Given the description of an element on the screen output the (x, y) to click on. 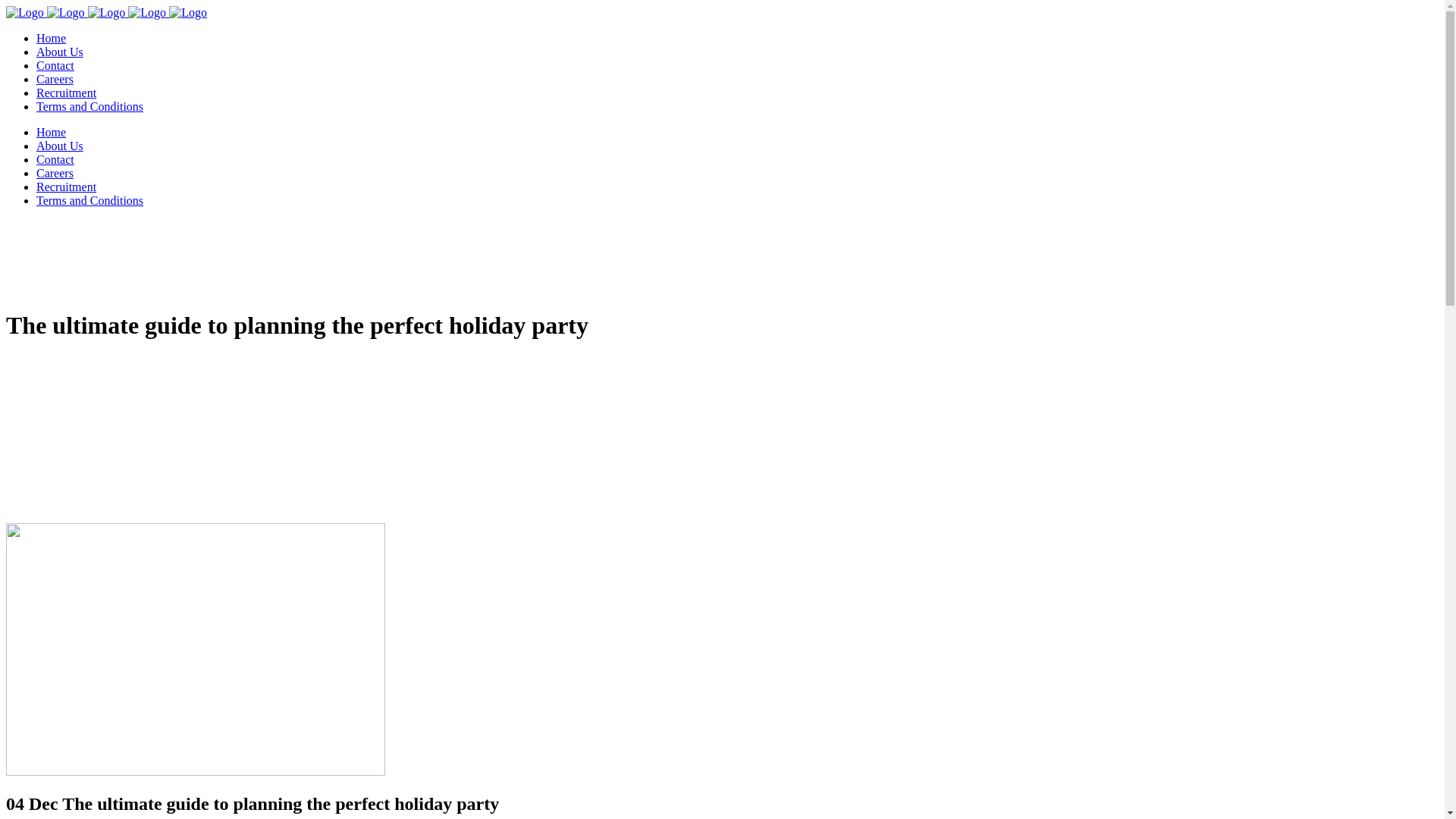
Contact Element type: text (55, 65)
About Us Element type: text (59, 145)
Contact Element type: text (55, 159)
Home Element type: text (50, 131)
Careers Element type: text (54, 78)
Recruitment Element type: text (66, 186)
Home Element type: text (50, 37)
Terms and Conditions Element type: text (89, 106)
Terms and Conditions Element type: text (89, 200)
About Us Element type: text (59, 51)
Recruitment Element type: text (66, 92)
Careers Element type: text (54, 172)
